Given the description of an element on the screen output the (x, y) to click on. 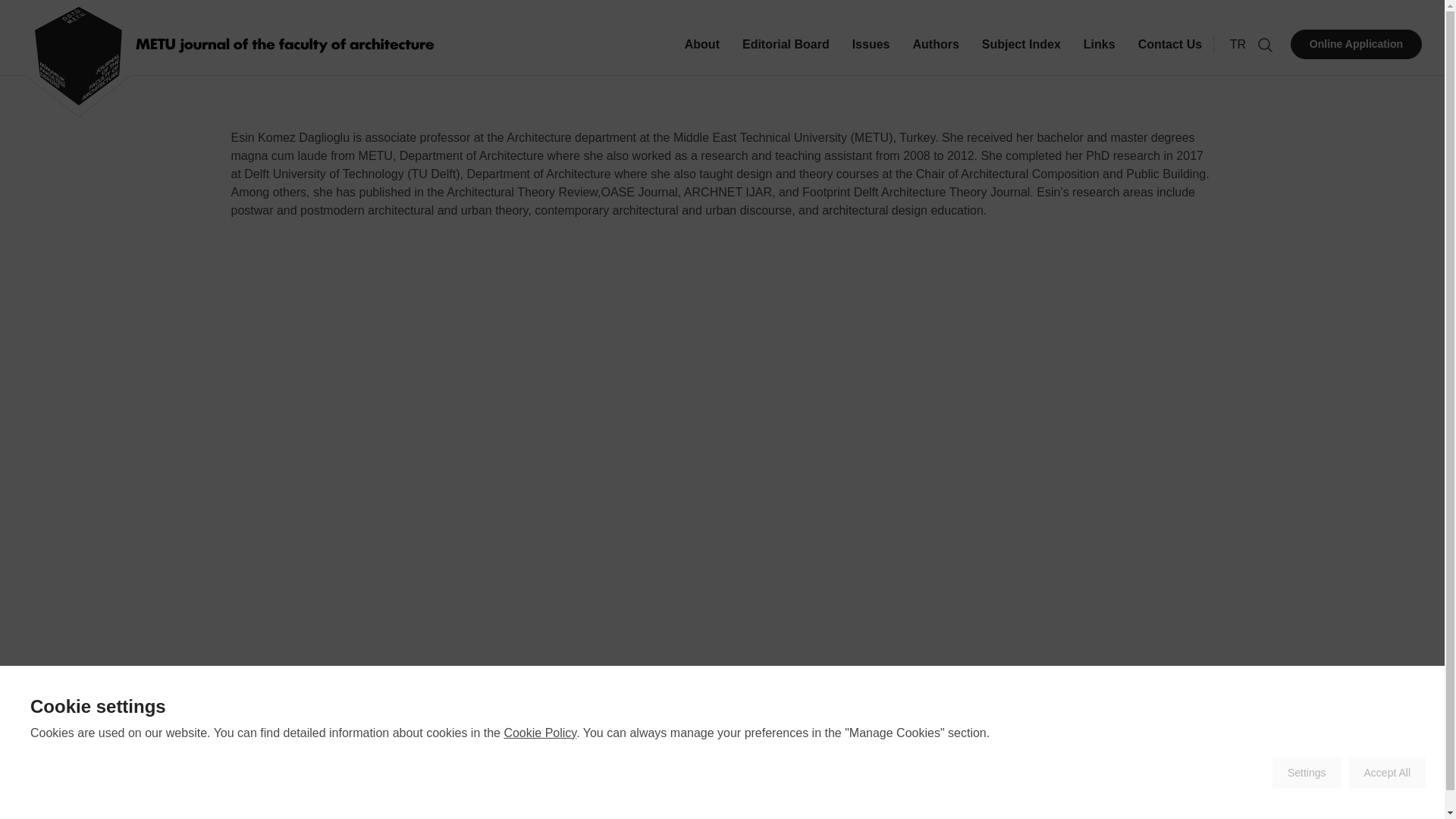
About (701, 55)
Issues (871, 55)
Guide for Preparation of Visual Materials (953, 805)
Authors (935, 55)
Authors (616, 805)
Cookie Policy (539, 732)
JFA Author Guide (787, 805)
Editorial Board (785, 55)
Issues (569, 805)
TR (1237, 44)
Issues (569, 805)
Subject Index (1021, 55)
Settings (1306, 772)
Links (1098, 55)
Contact Us (1169, 55)
